Given the description of an element on the screen output the (x, y) to click on. 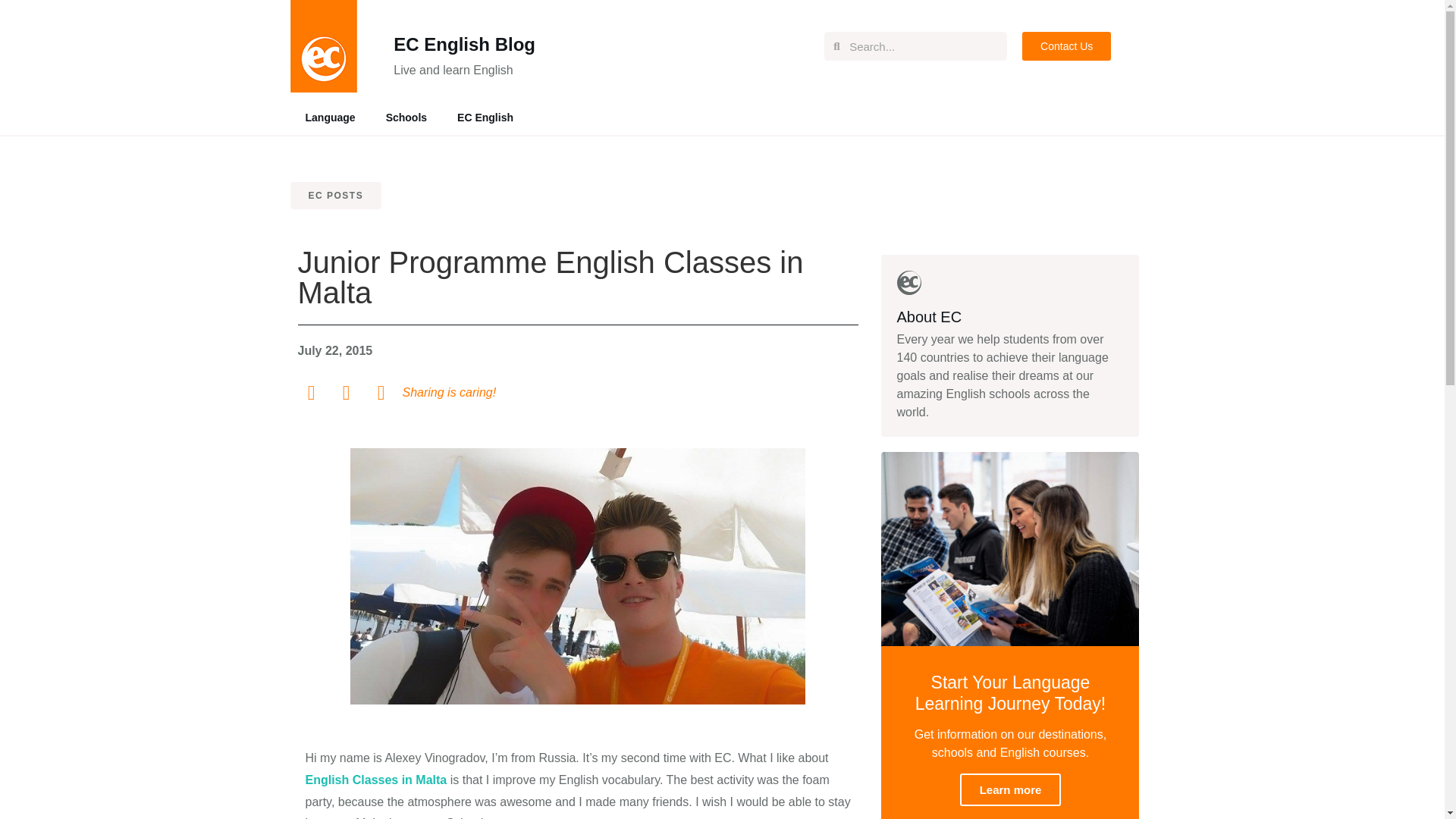
Language (329, 117)
Contact Us (1066, 45)
EC English (485, 117)
Schools (406, 117)
